Given the description of an element on the screen output the (x, y) to click on. 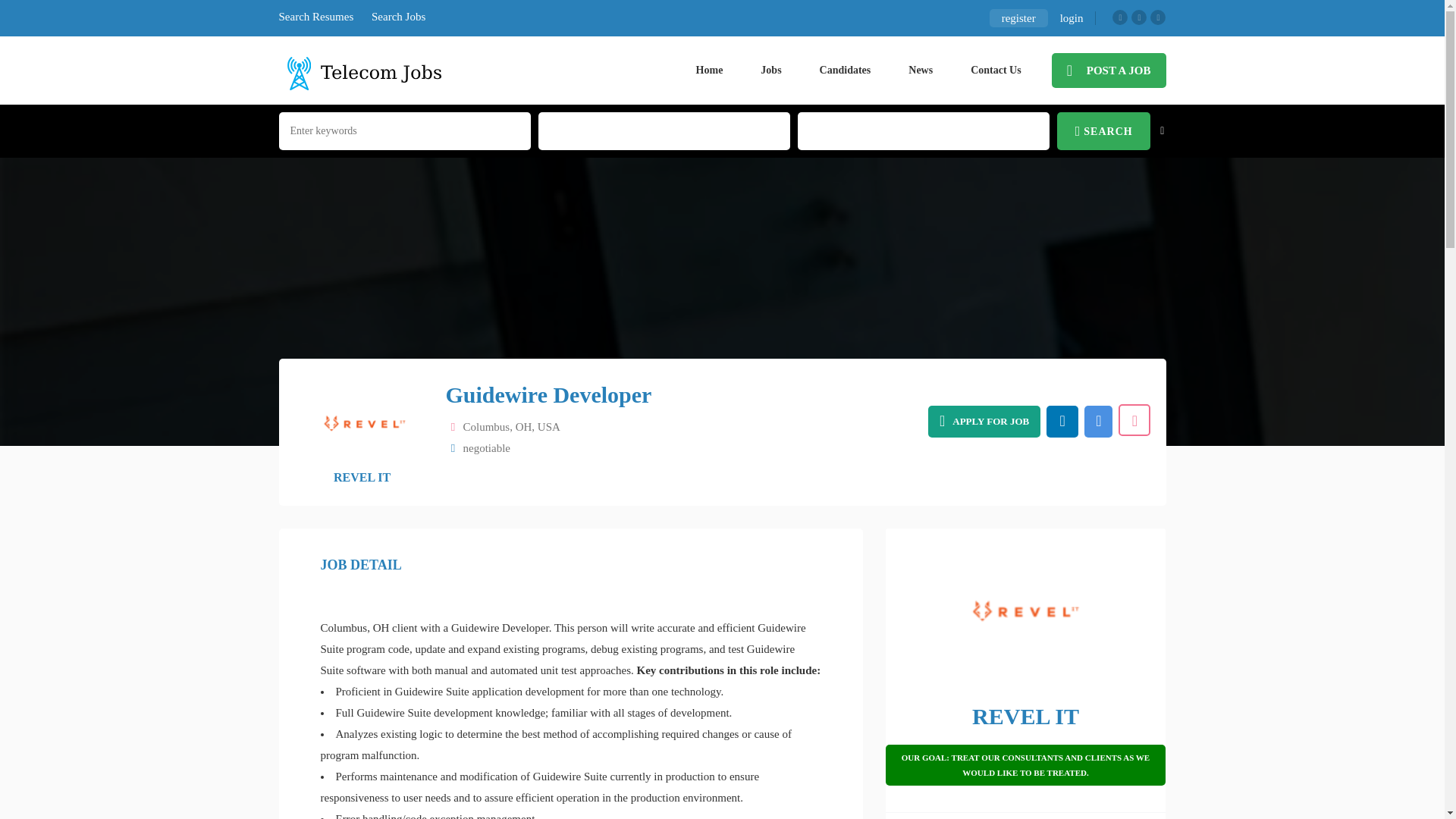
REVEL IT (361, 477)
LINKEDIN APPLY (1062, 421)
Home (709, 70)
Facebook (1119, 17)
login (1072, 18)
News (920, 70)
Telecom and Wireless News (920, 70)
Search Resumes (316, 16)
Twitter (1139, 17)
Search Jobs (398, 16)
